Given the description of an element on the screen output the (x, y) to click on. 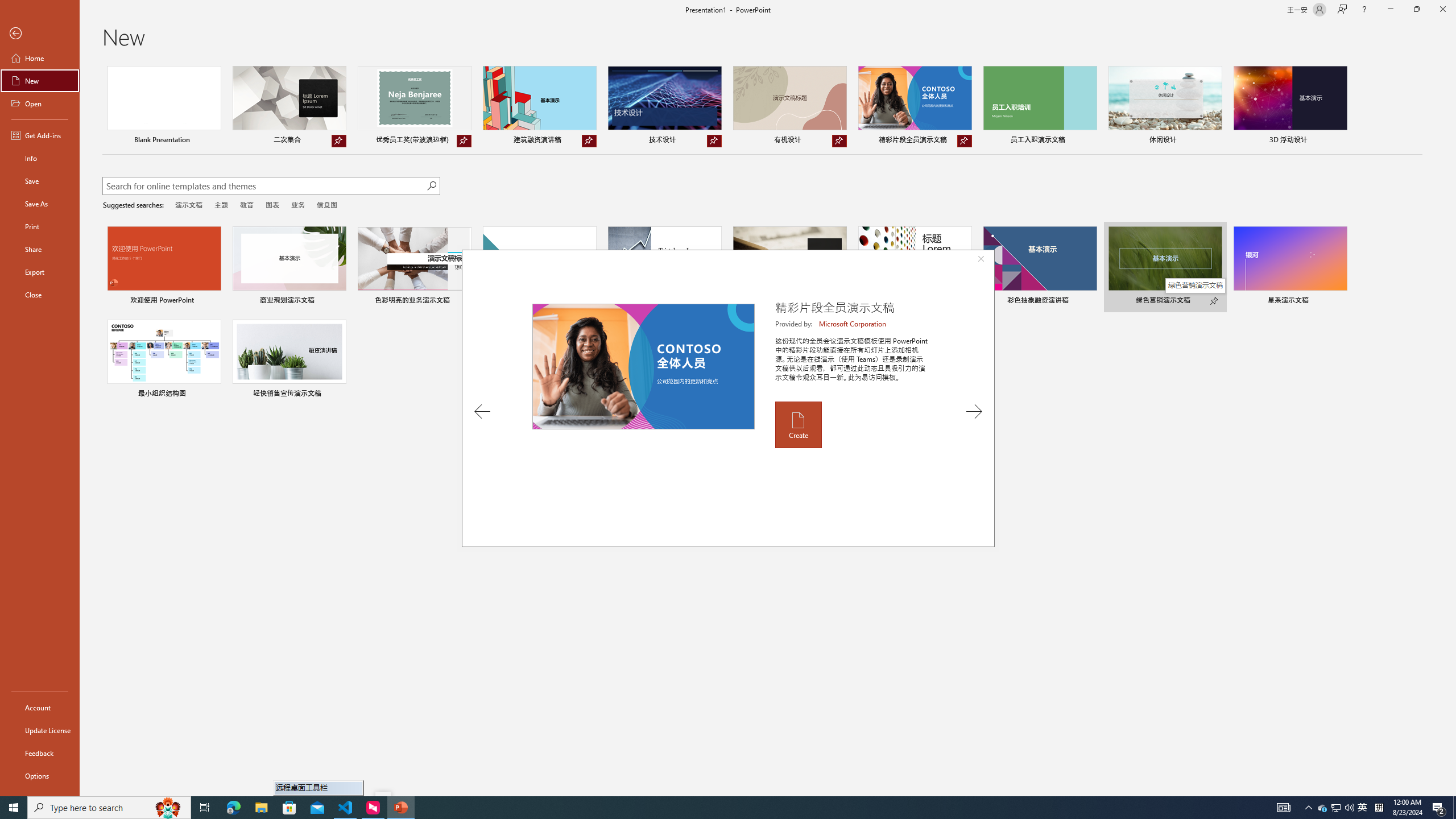
Print (40, 225)
Back (40, 33)
Save As (40, 203)
Feedback (40, 753)
Next Template (974, 411)
Export (40, 271)
Account (40, 707)
